Given the description of an element on the screen output the (x, y) to click on. 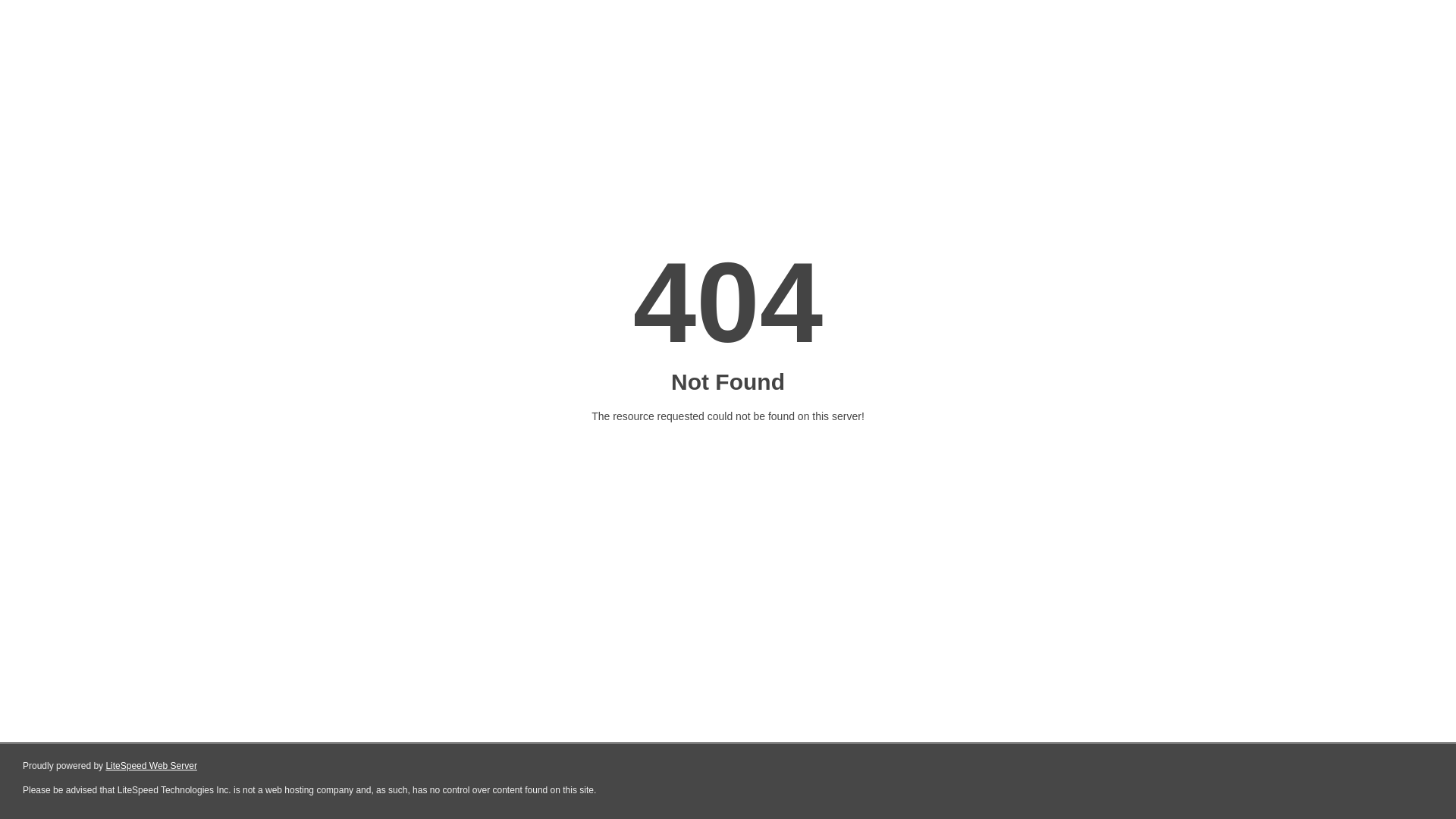
LiteSpeed Web Server Element type: text (151, 765)
